Given the description of an element on the screen output the (x, y) to click on. 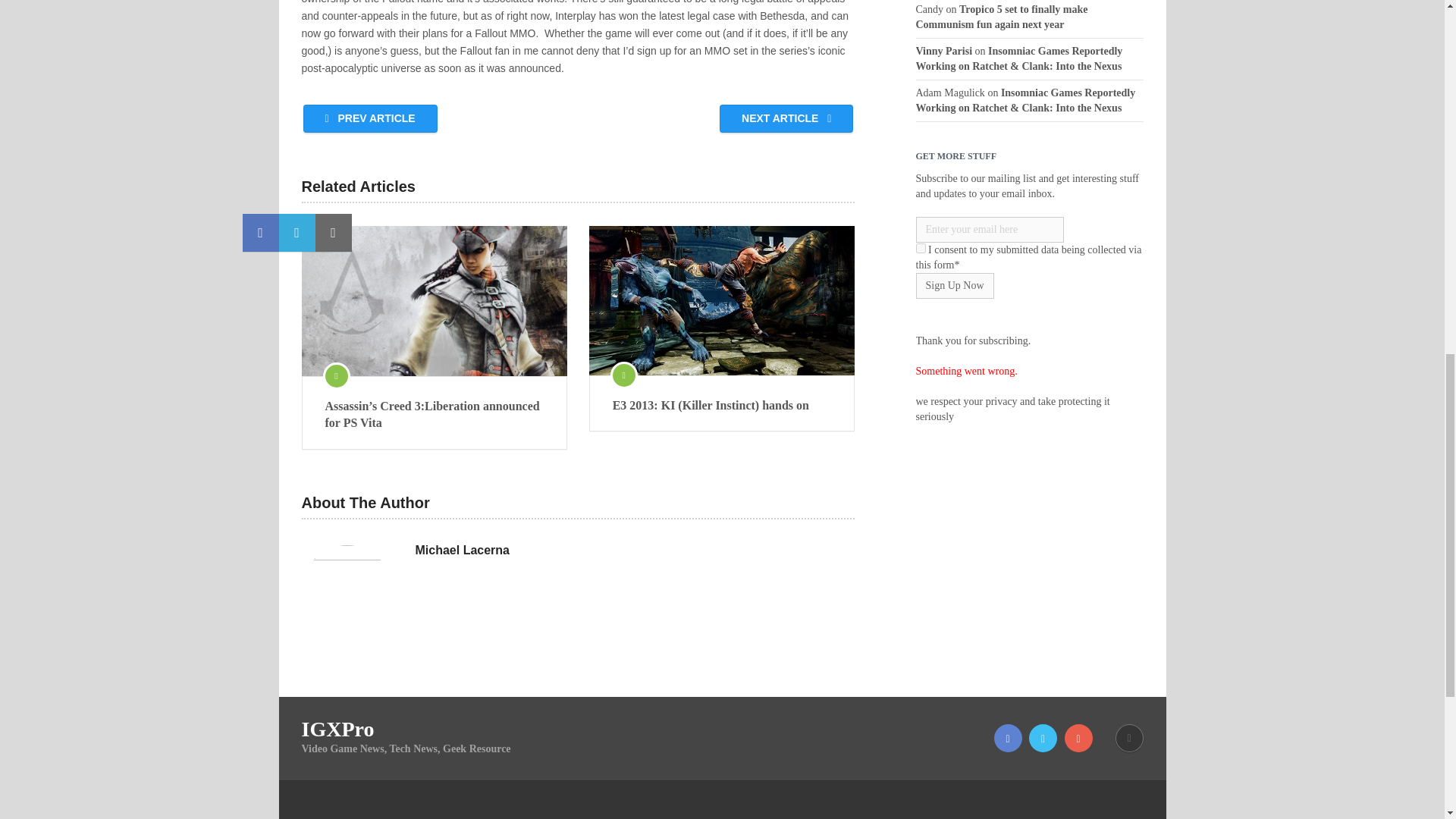
PREV ARTICLE (370, 118)
Sign Up Now (954, 285)
on (920, 248)
NEXT ARTICLE (786, 118)
